Given the description of an element on the screen output the (x, y) to click on. 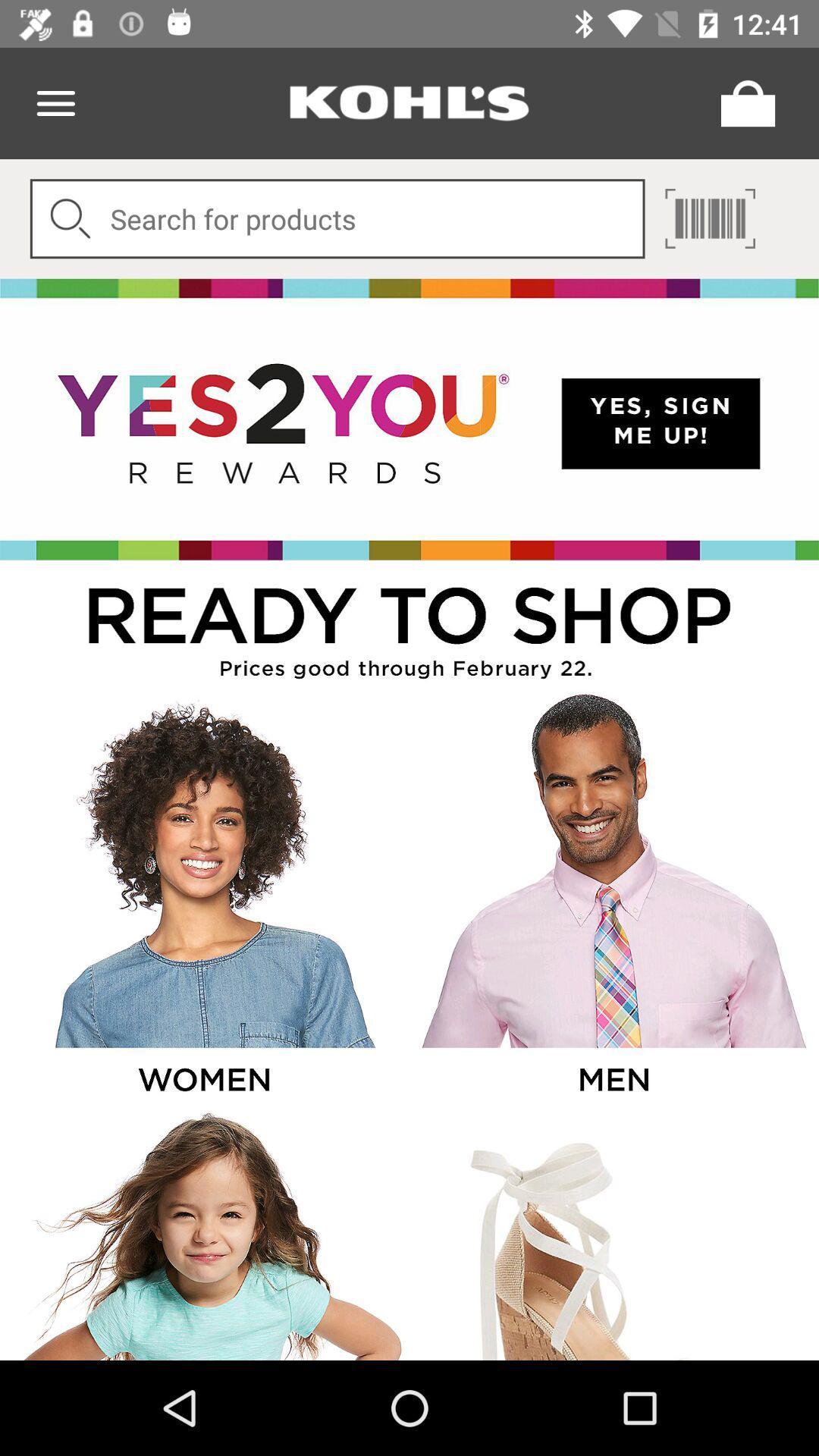
photo page (203, 899)
